Given the description of an element on the screen output the (x, y) to click on. 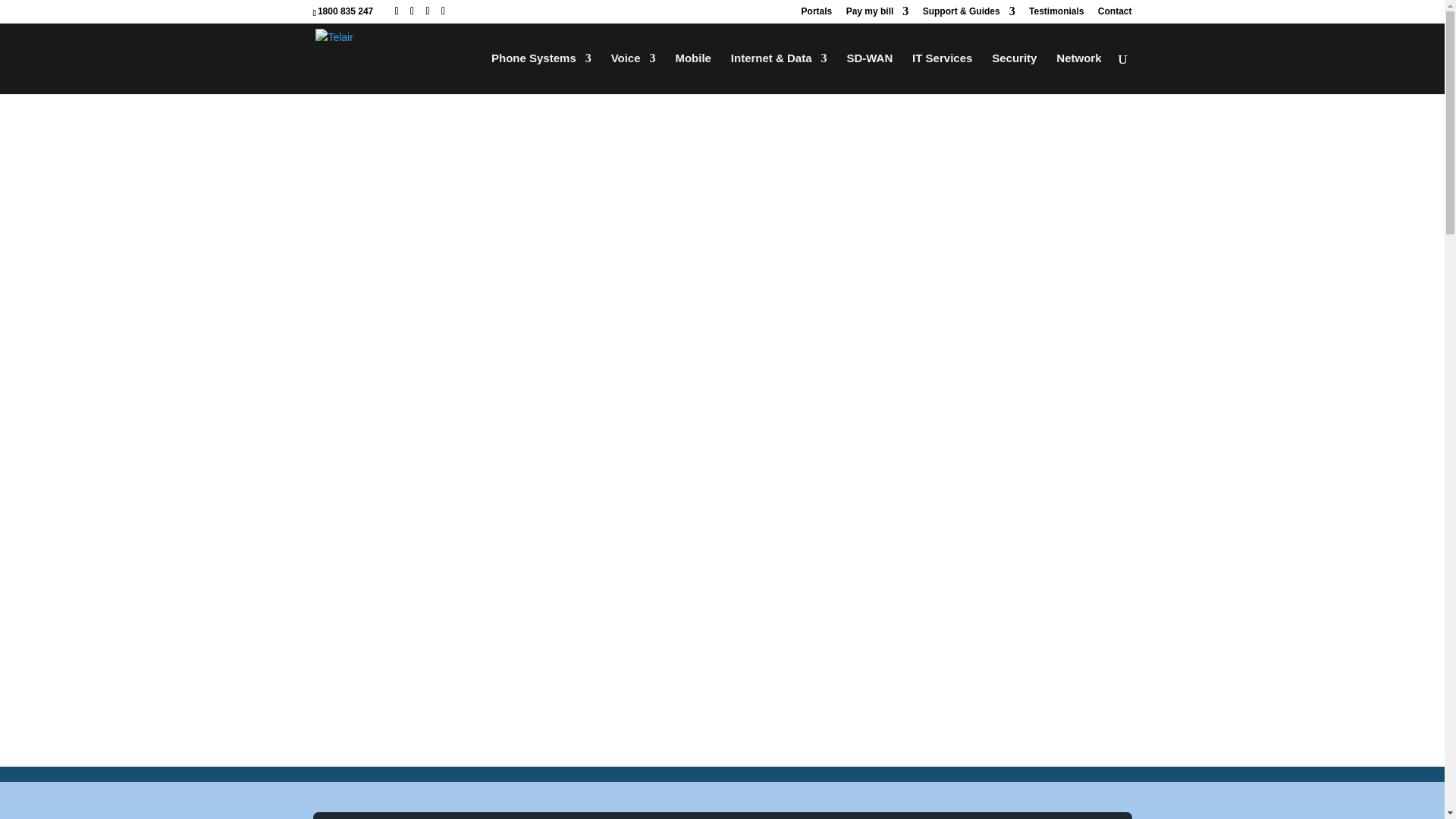
Contact (1114, 14)
Voice (633, 73)
Pay my bill (876, 14)
1800 835 247 (344, 10)
Phone Systems (541, 73)
Testimonials (1056, 14)
Portals (817, 14)
